Given the description of an element on the screen output the (x, y) to click on. 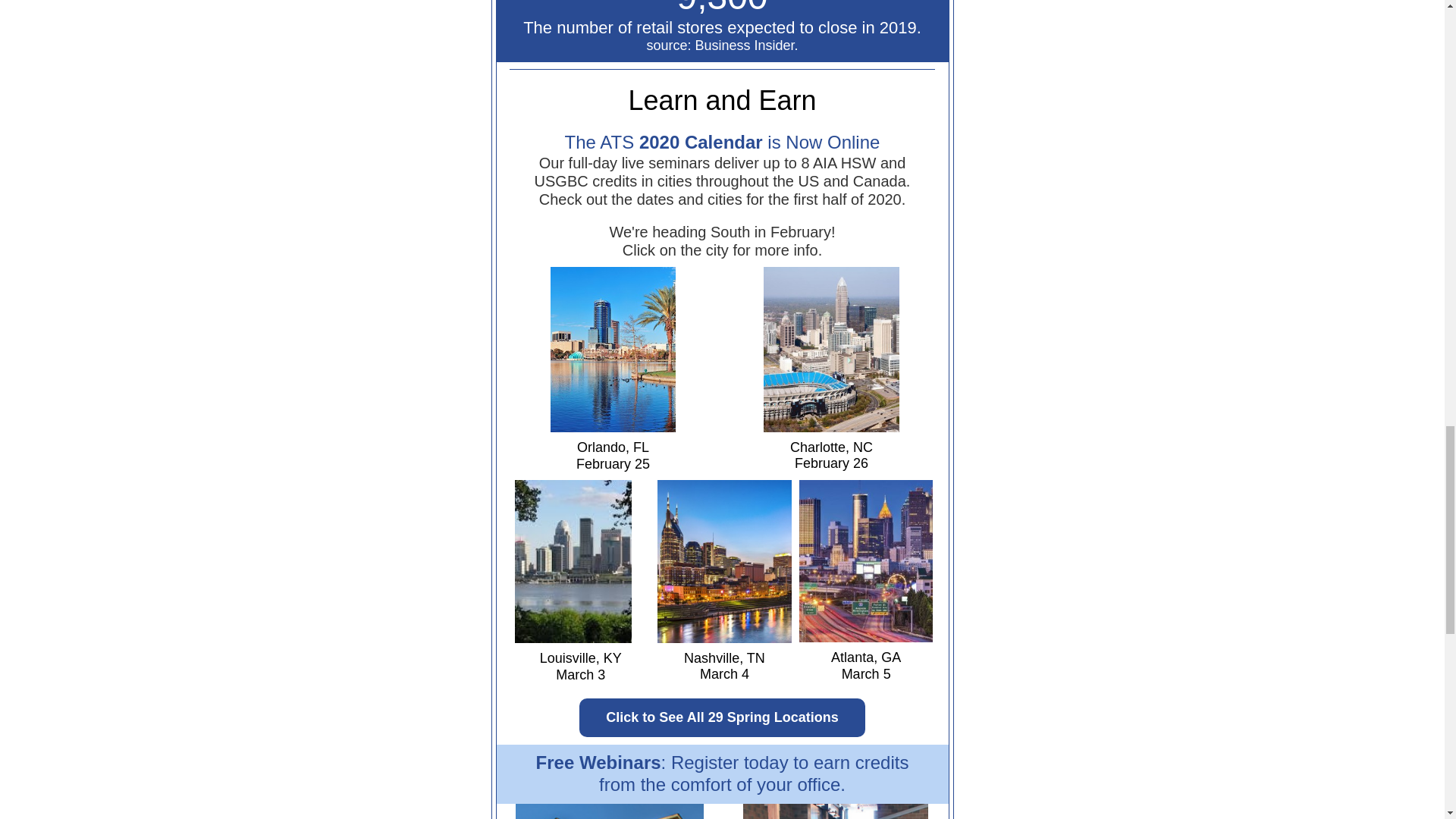
Click to See All 29 Spring Locations (721, 717)
2020 Calendar (700, 141)
